Given the description of an element on the screen output the (x, y) to click on. 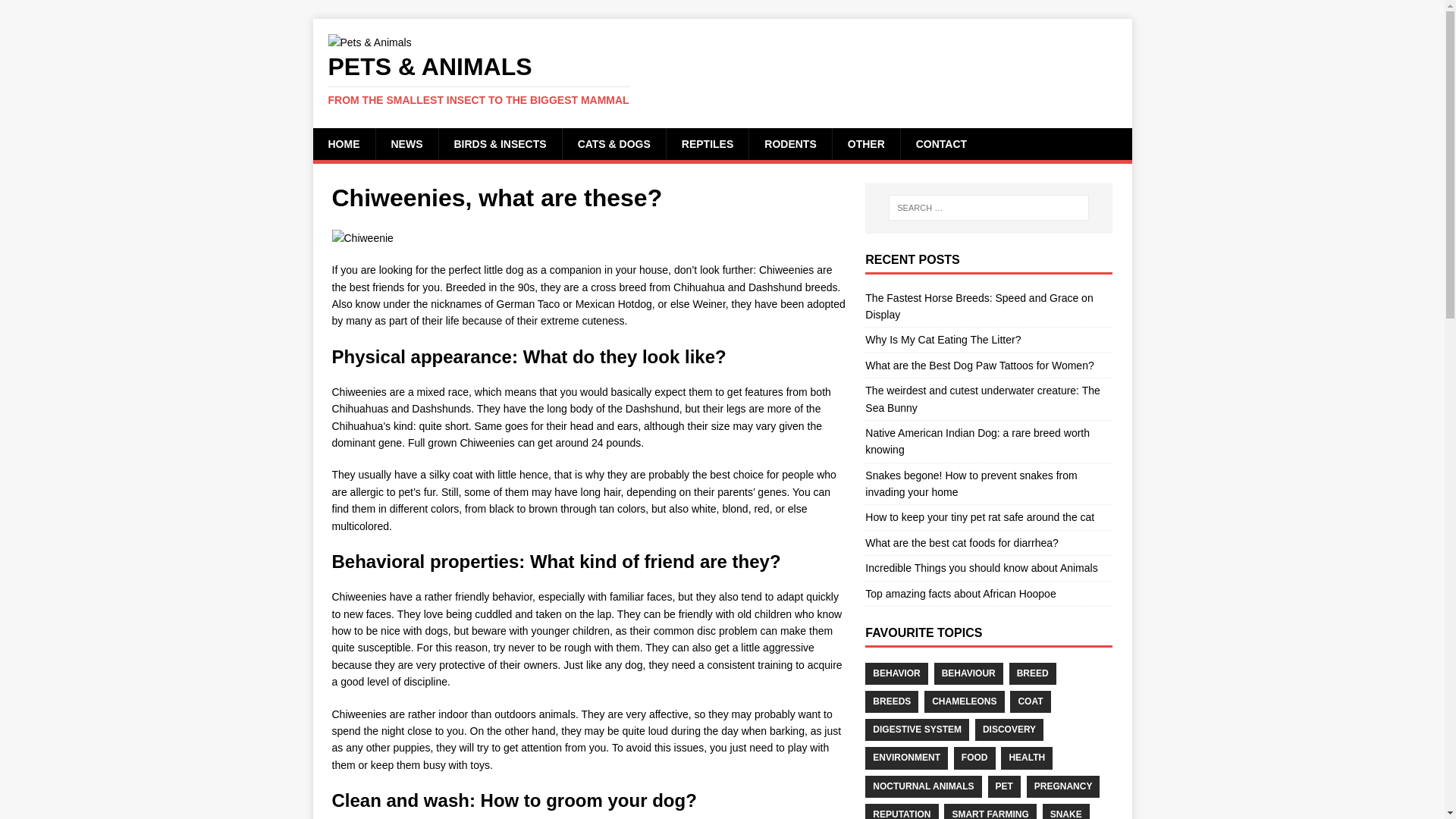
What are the best cat foods for diarrhea? (961, 542)
CONTACT (940, 143)
DISCOVERY (1009, 730)
Search (56, 11)
BREEDS (891, 701)
COAT (1029, 701)
OTHER (865, 143)
Top amazing facts about African Hoopoe (959, 593)
Native American Indian Dog: a rare breed worth knowing (976, 440)
RODENTS (789, 143)
